Given the description of an element on the screen output the (x, y) to click on. 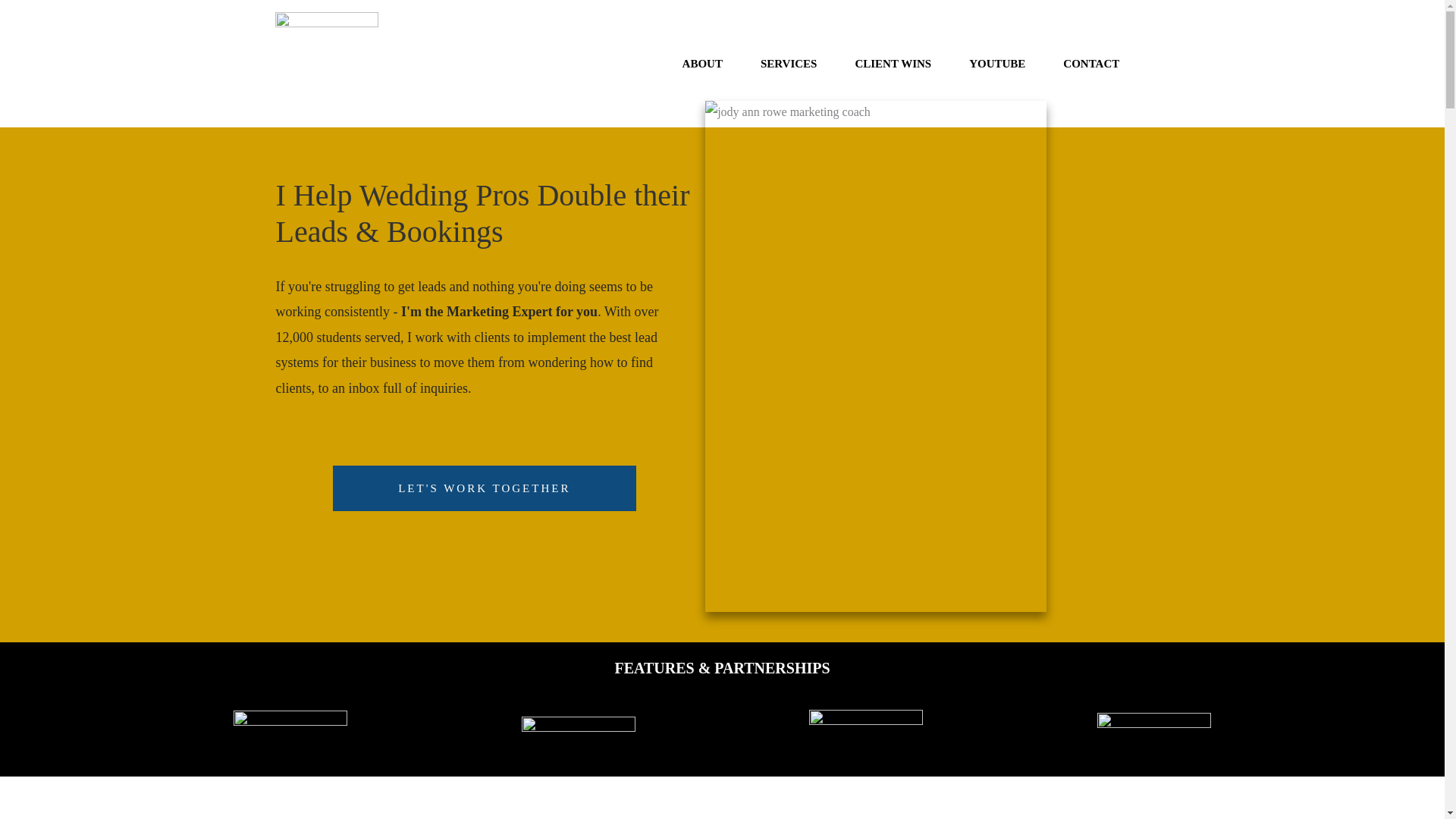
LET'S WORK TOGETHER (484, 488)
CLIENT WINS (892, 63)
YOUTUBE (997, 63)
huffpost-logo-1 (577, 729)
SERVICES (788, 63)
ABOUT (702, 63)
The-Event-Certificate-logo-C3 (326, 63)
meetings magazine (866, 729)
cvent (1154, 729)
CONTACT (1090, 63)
